Given the description of an element on the screen output the (x, y) to click on. 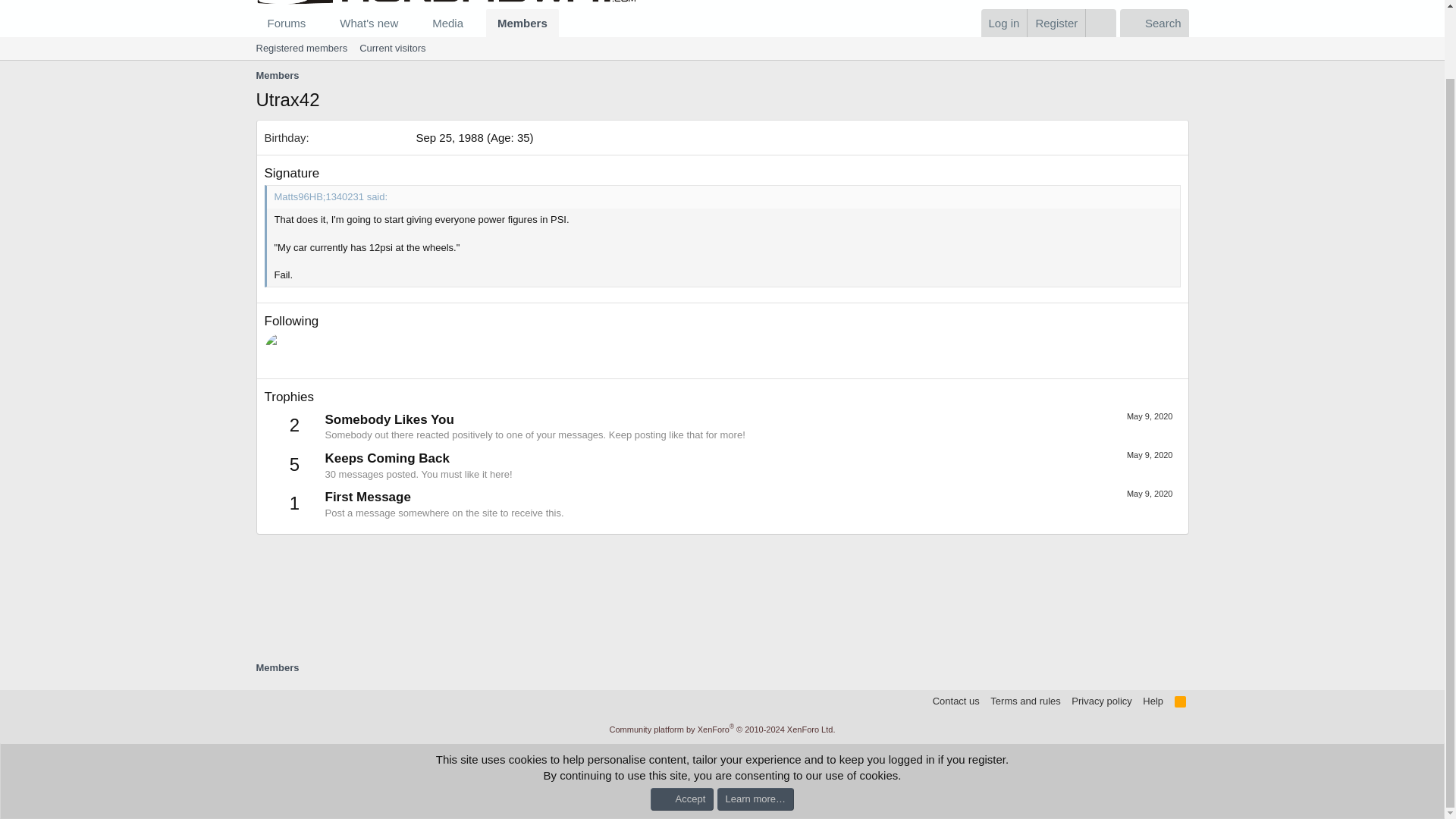
Search (1154, 22)
Search (407, 22)
May 9, 2020 at 7:50 PM (1154, 22)
Members (1149, 454)
Register (276, 667)
RSS (1055, 22)
May 9, 2020 at 7:50 PM (1180, 700)
Registered members (1149, 415)
What's new (301, 47)
